Given the description of an element on the screen output the (x, y) to click on. 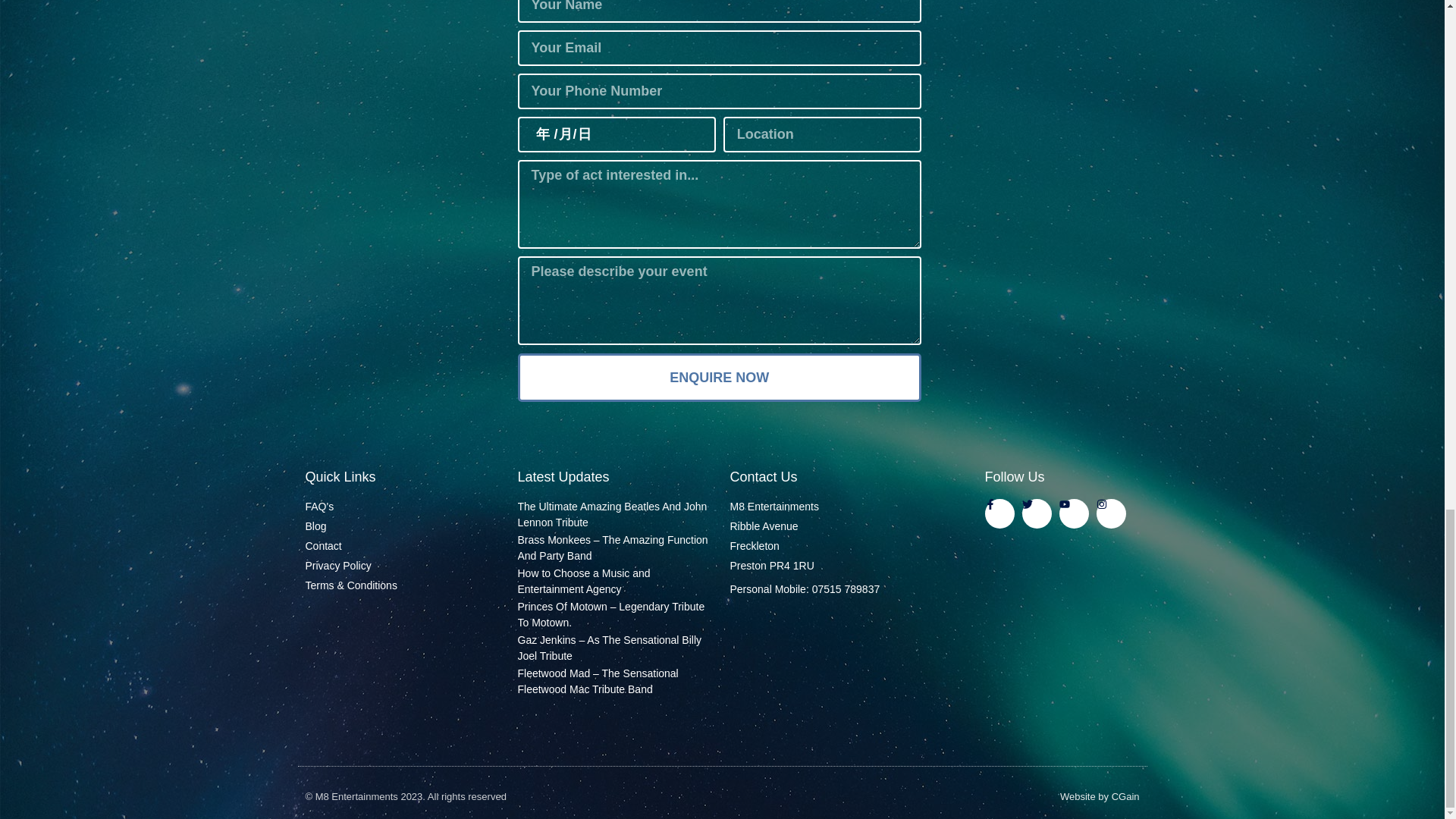
FAQ's (403, 506)
Privacy Policy (403, 565)
The Ultimate Amazing Beatles And John Lennon Tribute (611, 514)
ENQUIRE NOW (718, 377)
How to Choose a Music and Entertainment Agency (582, 581)
Contact (403, 546)
Blog (403, 526)
